Given the description of an element on the screen output the (x, y) to click on. 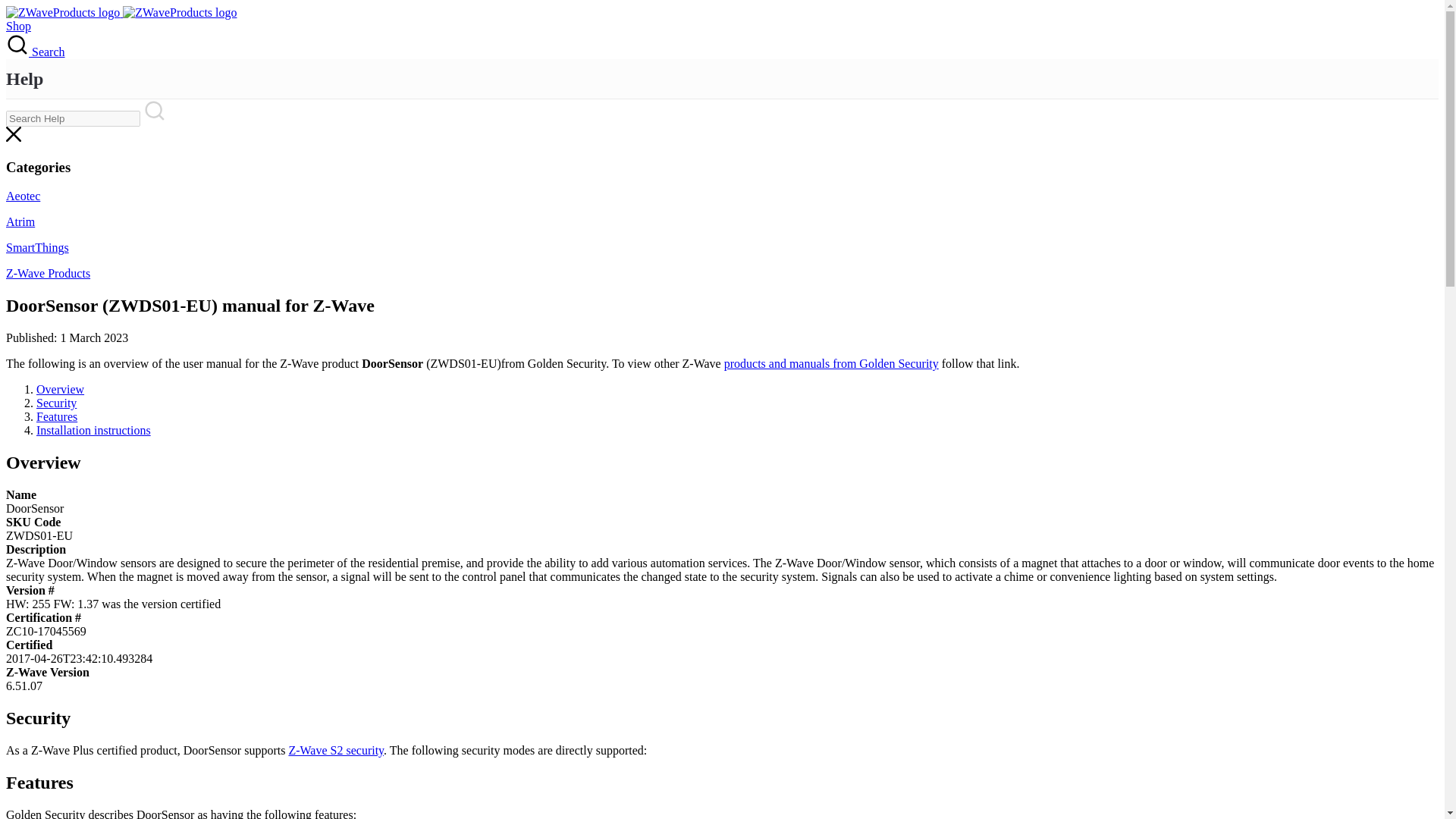
SmartThings (36, 246)
Overview (60, 389)
Z-Wave Products (47, 273)
close (13, 133)
Search Search (35, 51)
products and manuals from Golden Security (831, 363)
Shop (17, 25)
Installation instructions (93, 430)
Help (24, 78)
close (13, 137)
